Given the description of an element on the screen output the (x, y) to click on. 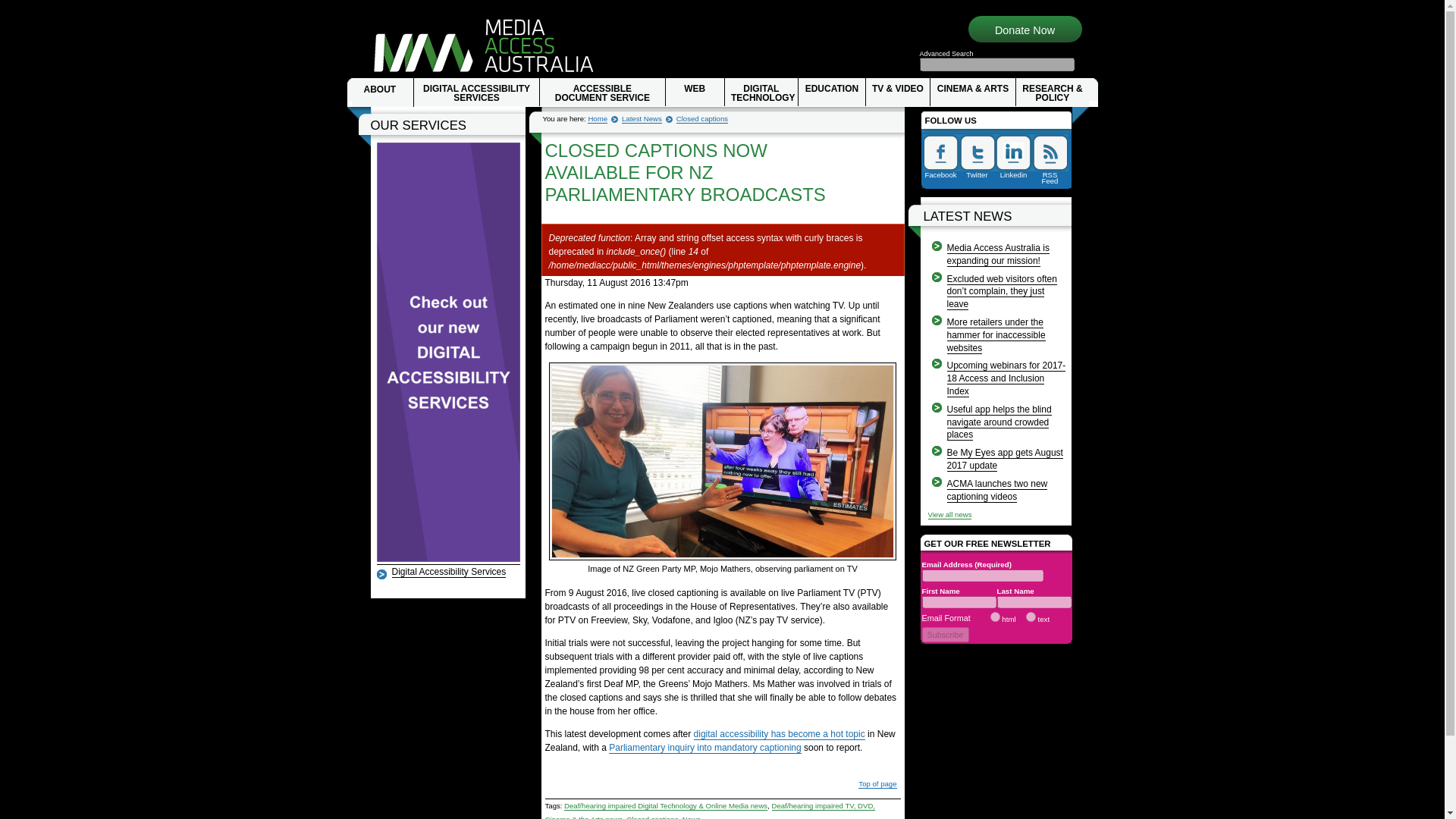
Donate Now (1024, 30)
Closed captions (702, 118)
News (691, 816)
EDUCATION (830, 91)
Latest News (641, 118)
html (995, 616)
text (1030, 616)
Media Access Australia is expanding our mission! (997, 254)
Parliamentary inquiry into mandatory captioning (704, 747)
Subscribe (945, 634)
